Given the description of an element on the screen output the (x, y) to click on. 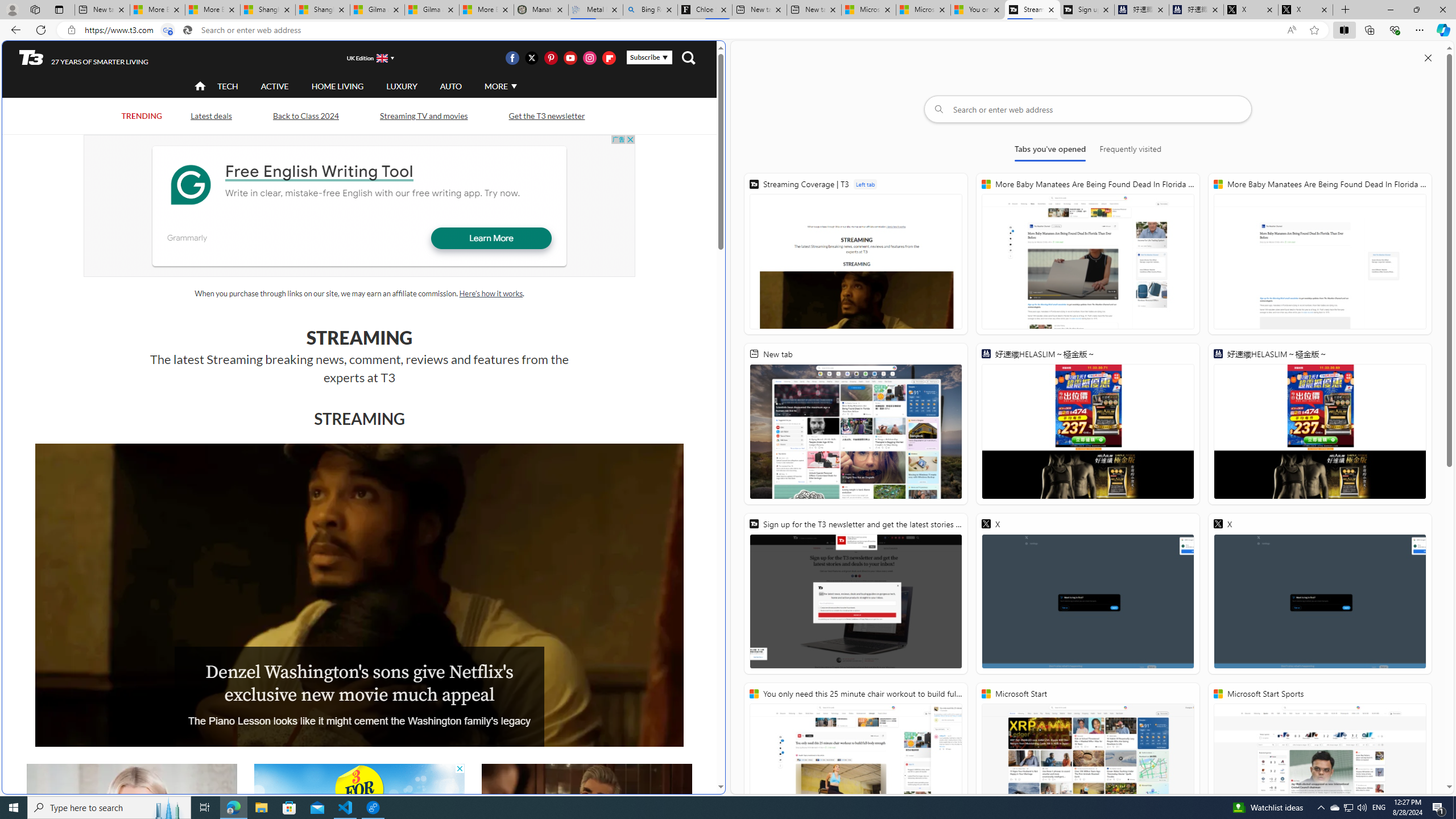
Search icon (187, 29)
Add this page to favorites (Ctrl+D) (1314, 29)
Chloe Sorvino (704, 9)
LUXURY (401, 85)
ACTIVE (274, 85)
Streaming TV and movies (423, 115)
Visit us on Flipboard (608, 57)
AUTO (450, 86)
Close tab (1324, 9)
Bing Real Estate - Home sales and rental listings (650, 9)
Visit us on Twitter (531, 57)
Streaming Coverage | T3 (855, 253)
